Given the description of an element on the screen output the (x, y) to click on. 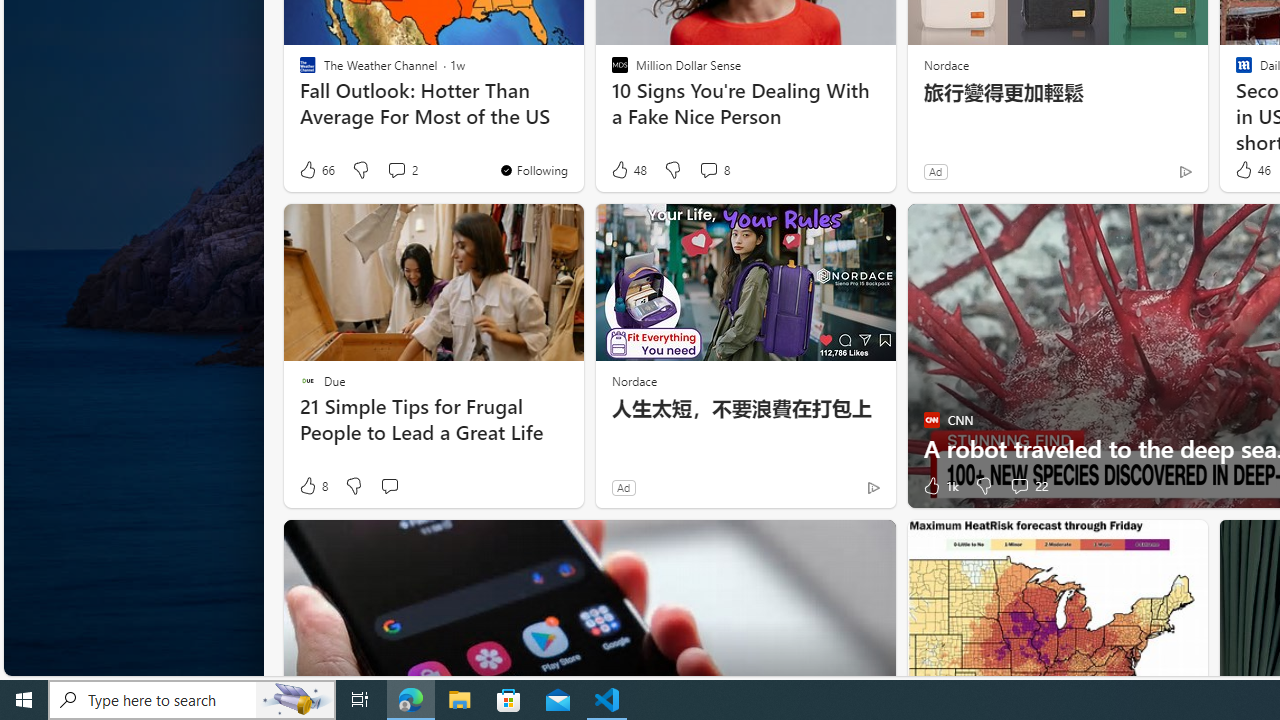
View comments 2 Comment (401, 170)
48 Like (628, 170)
You're following The Weather Channel (532, 169)
8 Like (312, 485)
1k Like (939, 485)
View comments 22 Comment (1019, 485)
View comments 8 Comment (713, 170)
